Given the description of an element on the screen output the (x, y) to click on. 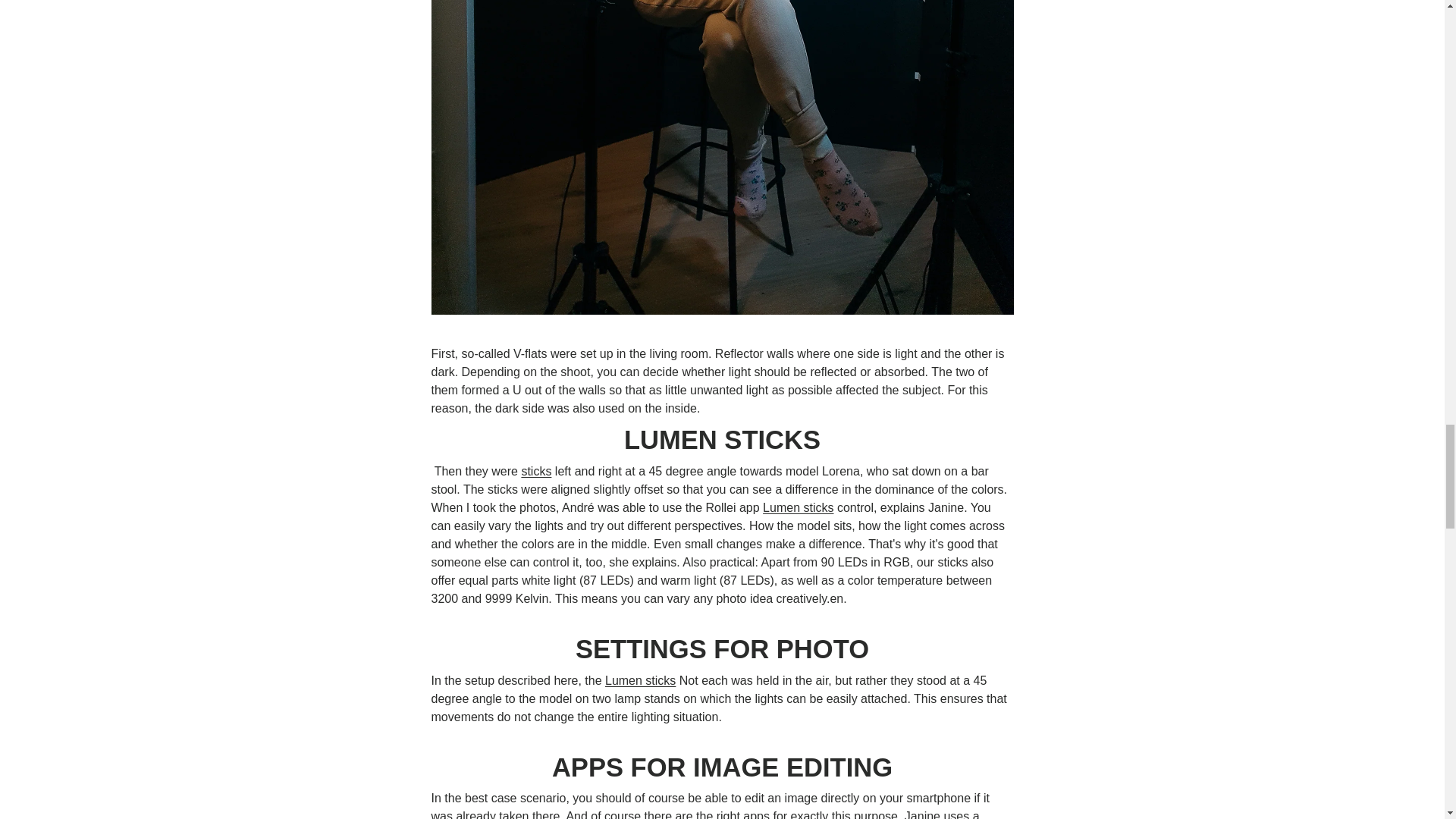
Lumen LED-Sticks von Rollei (640, 680)
Lumen LED-Sticks von Rollei (797, 507)
Lumen LED-Sticks von Rollei (536, 471)
